Given the description of an element on the screen output the (x, y) to click on. 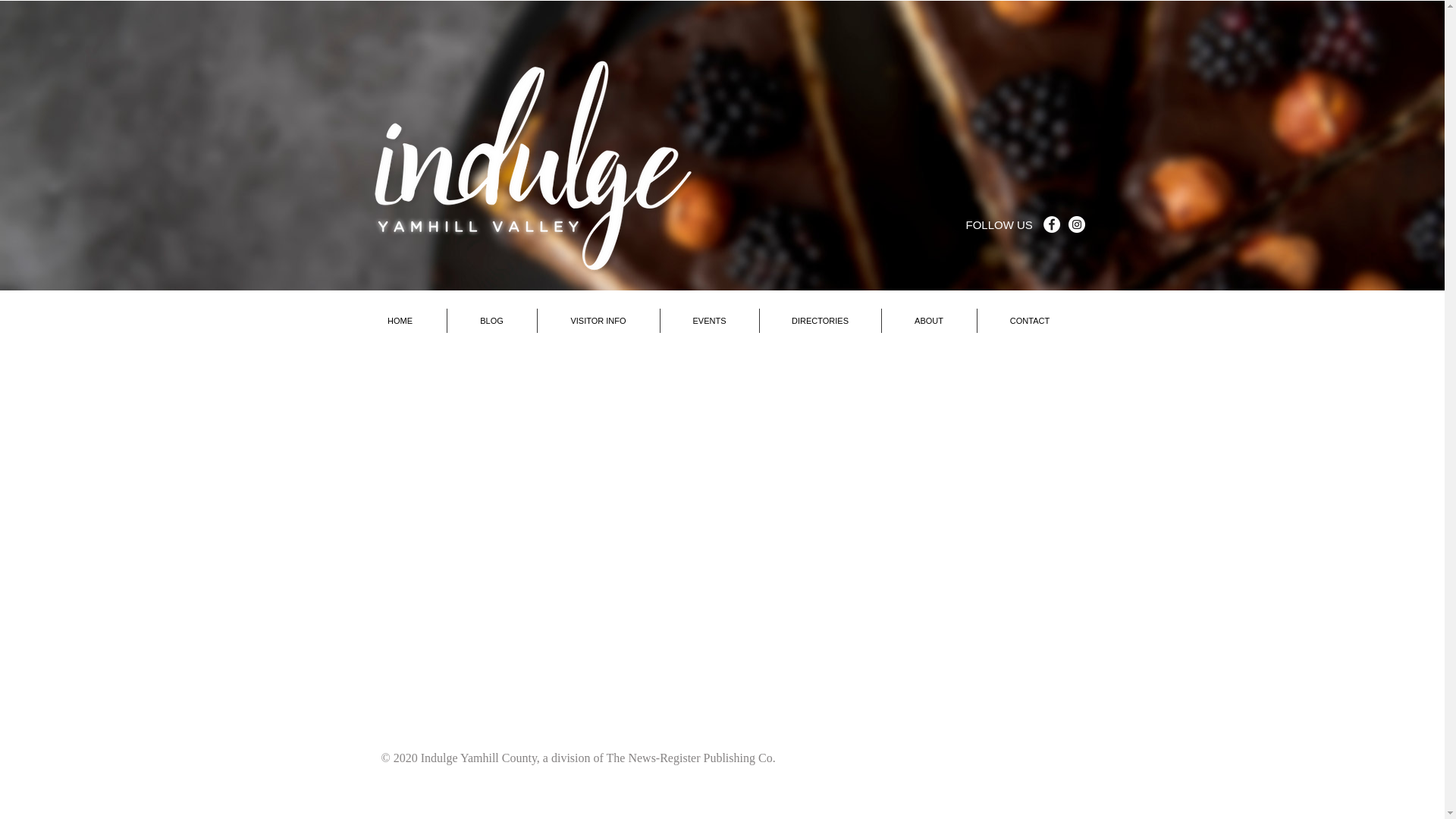
Site Search (1010, 257)
CONTACT (1028, 320)
BLOG (491, 320)
HOME (399, 320)
DIRECTORIES (820, 320)
VISITOR INFO (598, 320)
ABOUT (927, 320)
EVENTS (708, 320)
